Given the description of an element on the screen output the (x, y) to click on. 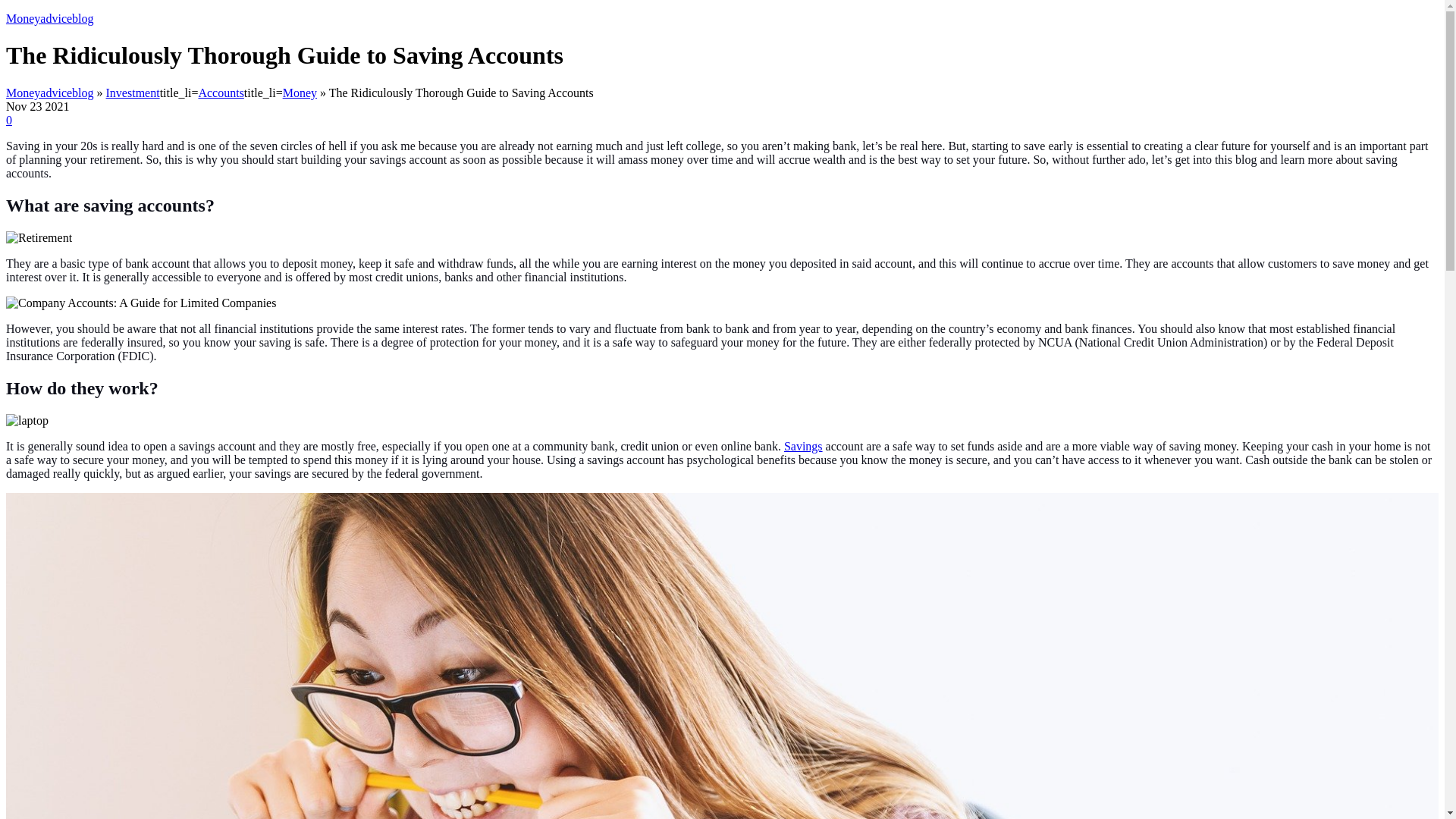
Moneyadviceblog (49, 18)
Accounts (220, 92)
Investment (133, 92)
Moneyadviceblog (49, 92)
Money (299, 92)
Savings (803, 445)
